Given the description of an element on the screen output the (x, y) to click on. 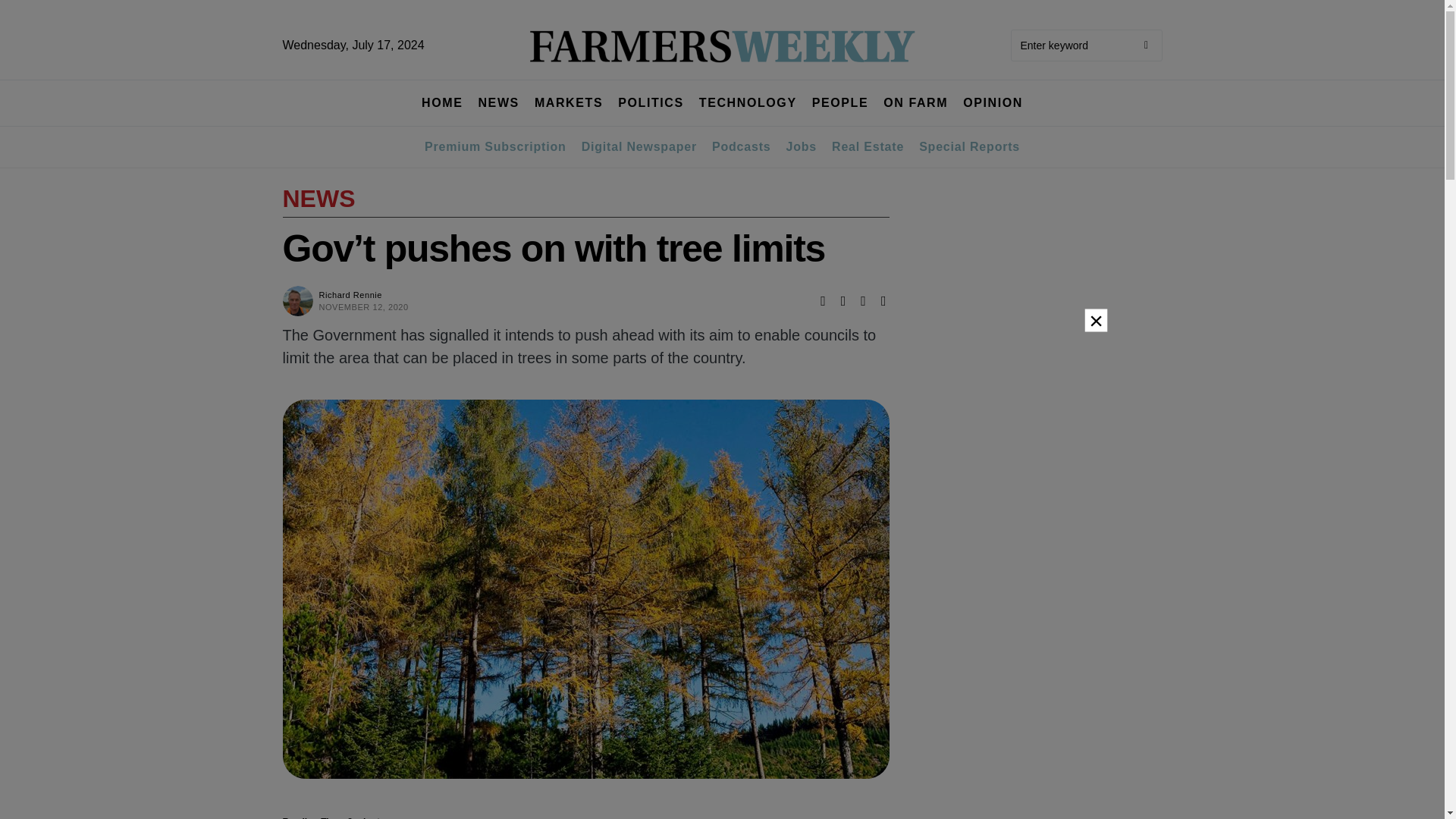
HOME (442, 103)
OPINION (992, 103)
ON FARM (915, 103)
MARKETS (568, 103)
POLITICS (650, 103)
PEOPLE (840, 103)
TECHNOLOGY (747, 103)
NEWS (497, 103)
